Given the description of an element on the screen output the (x, y) to click on. 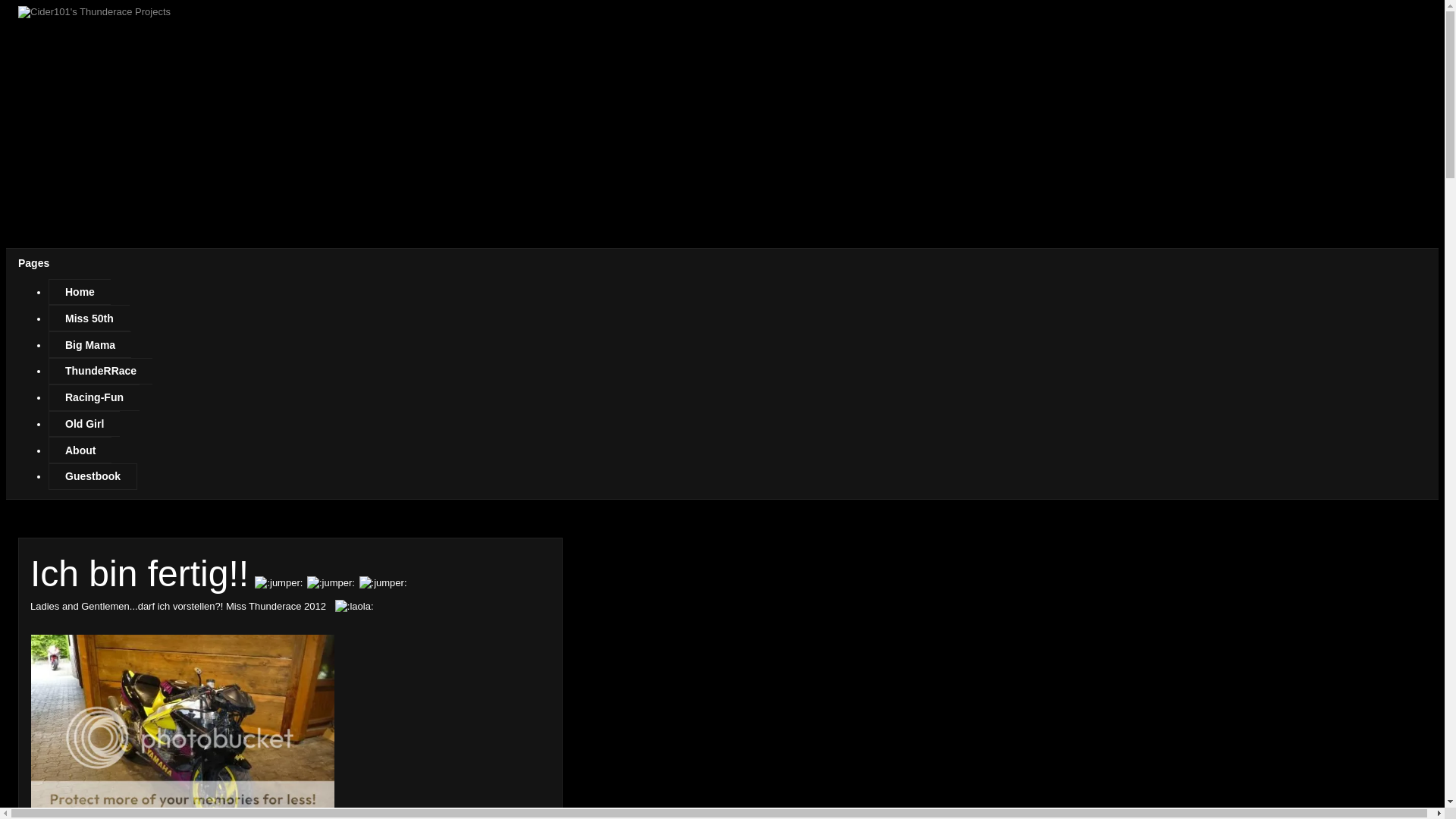
jumper Element type: hover (278, 582)
ThundeRRace Element type: text (100, 370)
Big Mama Element type: text (89, 344)
Old Girl Element type: text (83, 424)
Home Element type: text (79, 292)
laola Element type: hover (354, 606)
Racing-Fun Element type: text (93, 397)
Miss 50th Element type: text (88, 317)
jumper Element type: hover (330, 582)
Guestbook Element type: text (92, 476)
About Element type: text (79, 449)
jumper Element type: hover (382, 582)
